Given the description of an element on the screen output the (x, y) to click on. 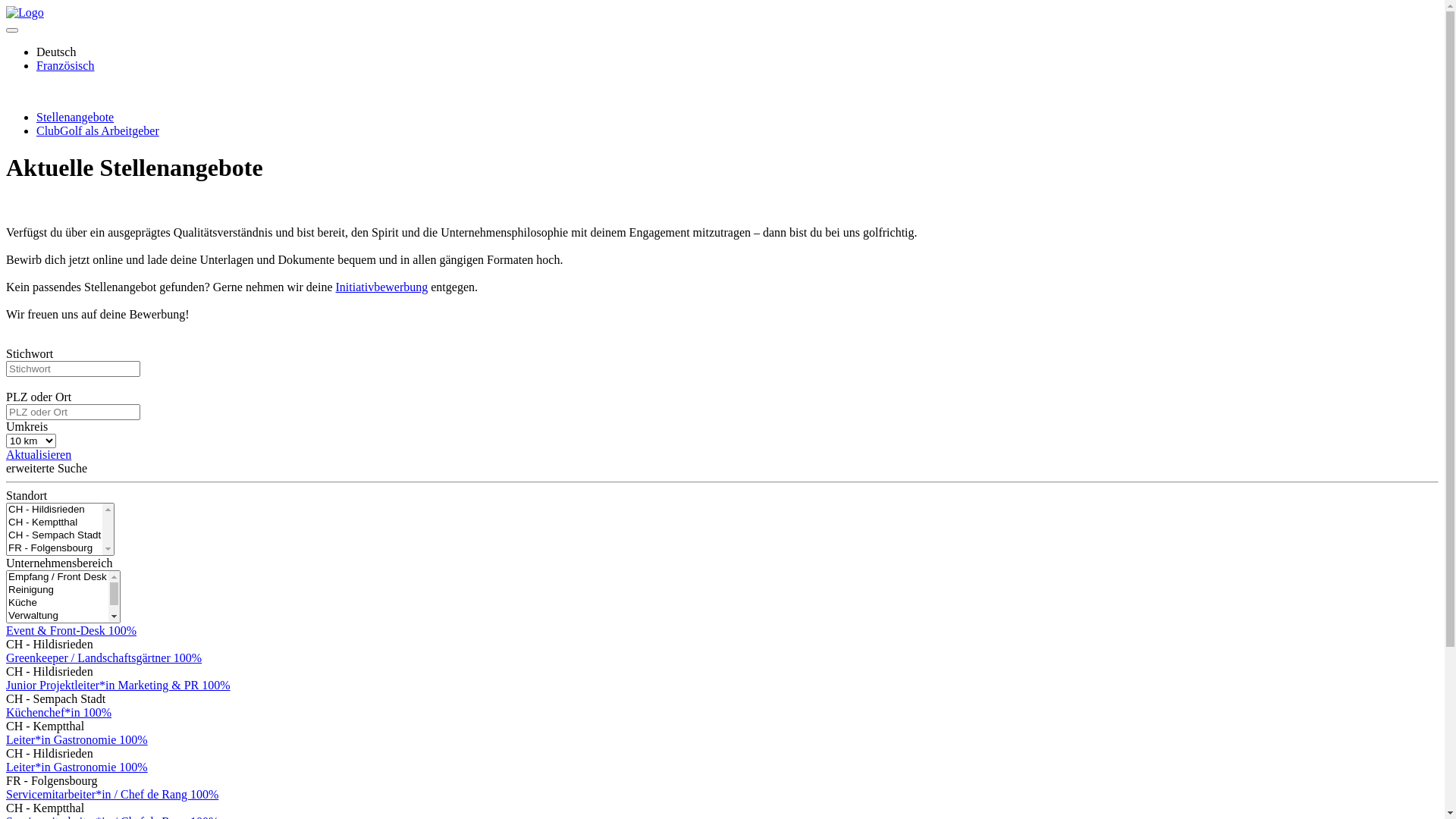
Event & Front-Desk 100% Element type: text (71, 630)
Servicemitarbeiter*in / Chef de Rang 100%
CH - Kemptthal Element type: text (722, 801)
Aktualisieren Element type: text (38, 454)
Leiter*in Gastronomie 100%
CH - Hildisrieden Element type: text (722, 746)
Leiter*in Gastronomie 100%
FR - Folgensbourg Element type: text (722, 773)
Stellenangebote Element type: text (74, 116)
Initiativbewerbung Element type: text (381, 286)
Event & Front-Desk 100%
CH - Hildisrieden Element type: text (722, 637)
mobile button Element type: hover (12, 30)
PLZ oder Ort Element type: hover (73, 412)
Servicemitarbeiter*in / Chef de Rang 100% Element type: text (112, 793)
Stichwort Element type: hover (73, 368)
ClubGolf als Arbeitgeber Element type: text (97, 130)
Leiter*in Gastronomie 100% Element type: text (76, 739)
Leiter*in Gastronomie 100% Element type: text (76, 766)
Junior Projektleiter*in Marketing & PR 100% Element type: text (118, 684)
